Given the description of an element on the screen output the (x, y) to click on. 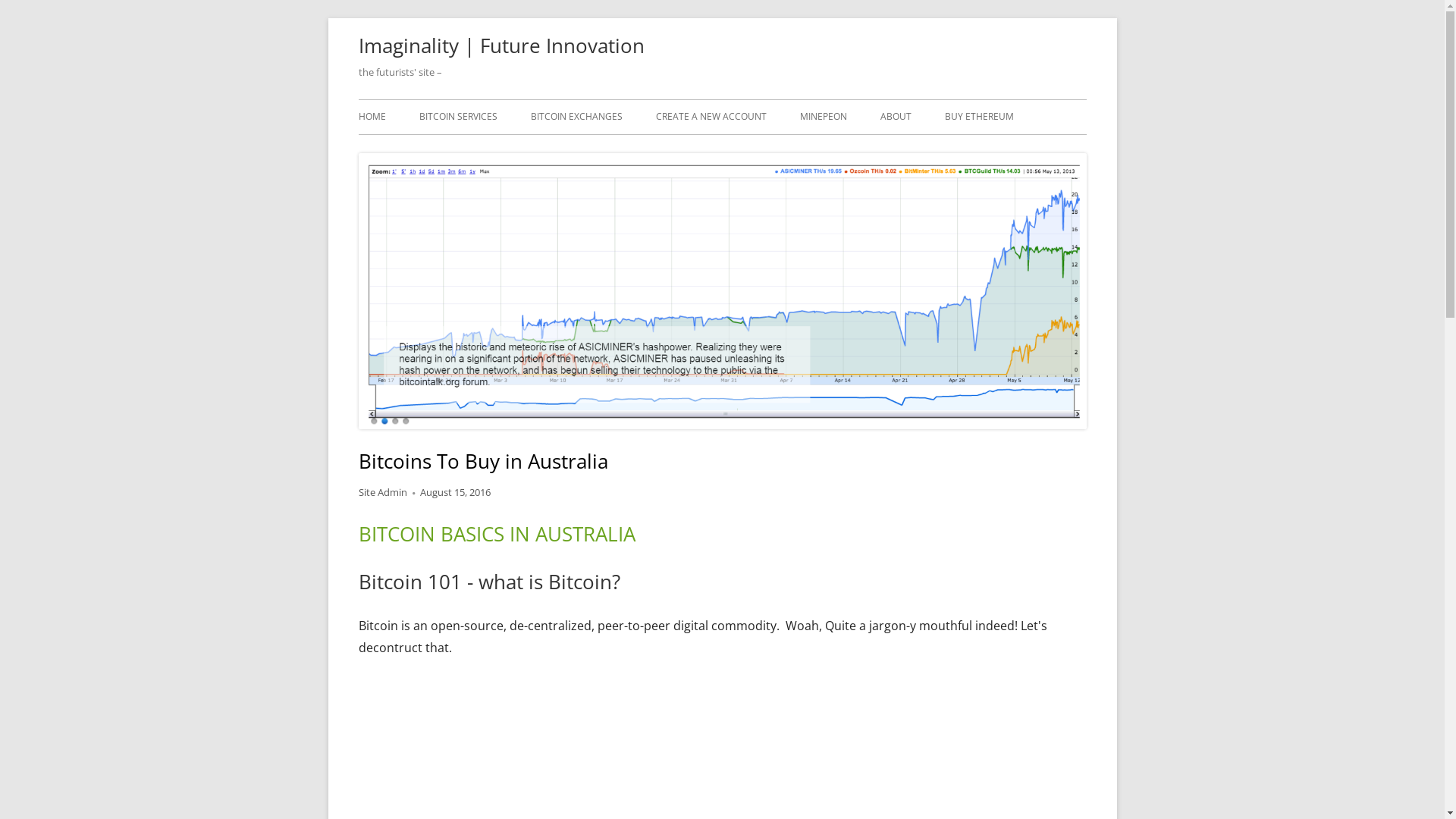
BITCOIN EXCHANGES Element type: text (576, 116)
ABOUT Element type: text (894, 116)
BITCOIN SERVICES Element type: text (457, 116)
HOME Element type: text (371, 116)
August 15, 2016 Element type: text (455, 491)
MINEPEON Element type: text (822, 116)
Imaginality | Future Innovation Element type: text (500, 45)
BUY ETHEREUM Element type: text (978, 116)
CREATE A NEW ACCOUNT Element type: text (710, 116)
Site Admin Element type: text (381, 491)
